Given the description of an element on the screen output the (x, y) to click on. 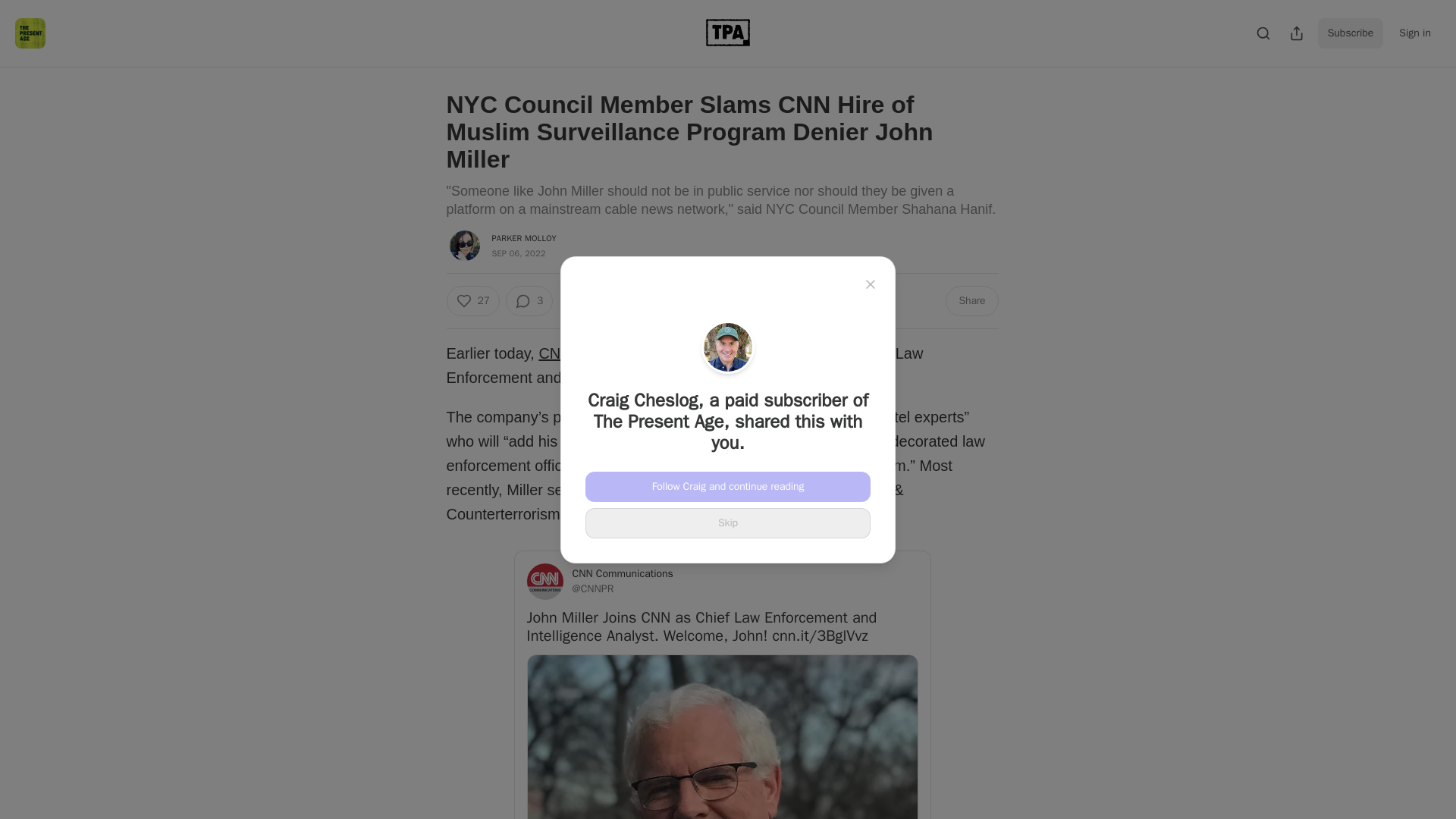
3 (529, 300)
PARKER MOLLOY (524, 237)
CNN announced (594, 352)
Close (870, 283)
27 (472, 300)
Sign in (1415, 33)
Share (970, 300)
Subscribe (1350, 33)
